Given the description of an element on the screen output the (x, y) to click on. 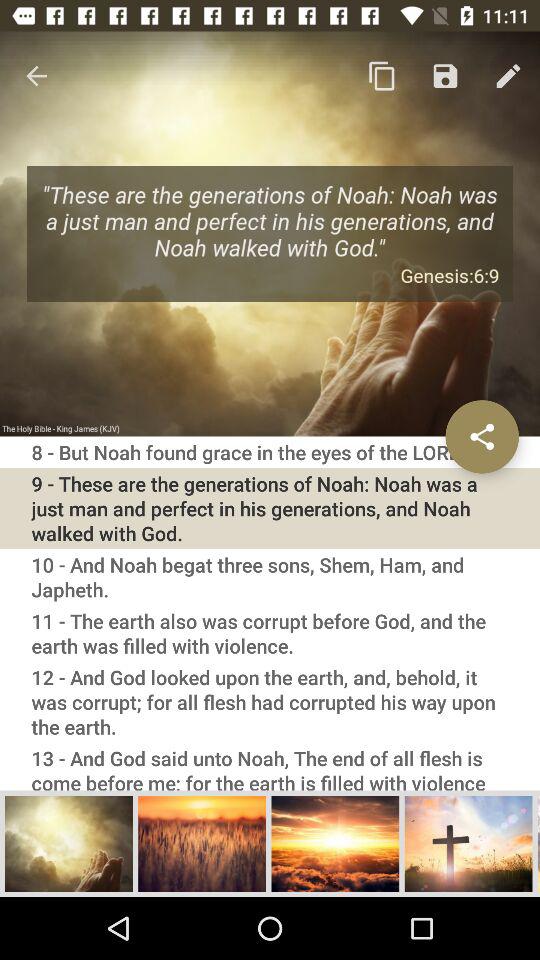
choose image (69, 843)
